Given the description of an element on the screen output the (x, y) to click on. 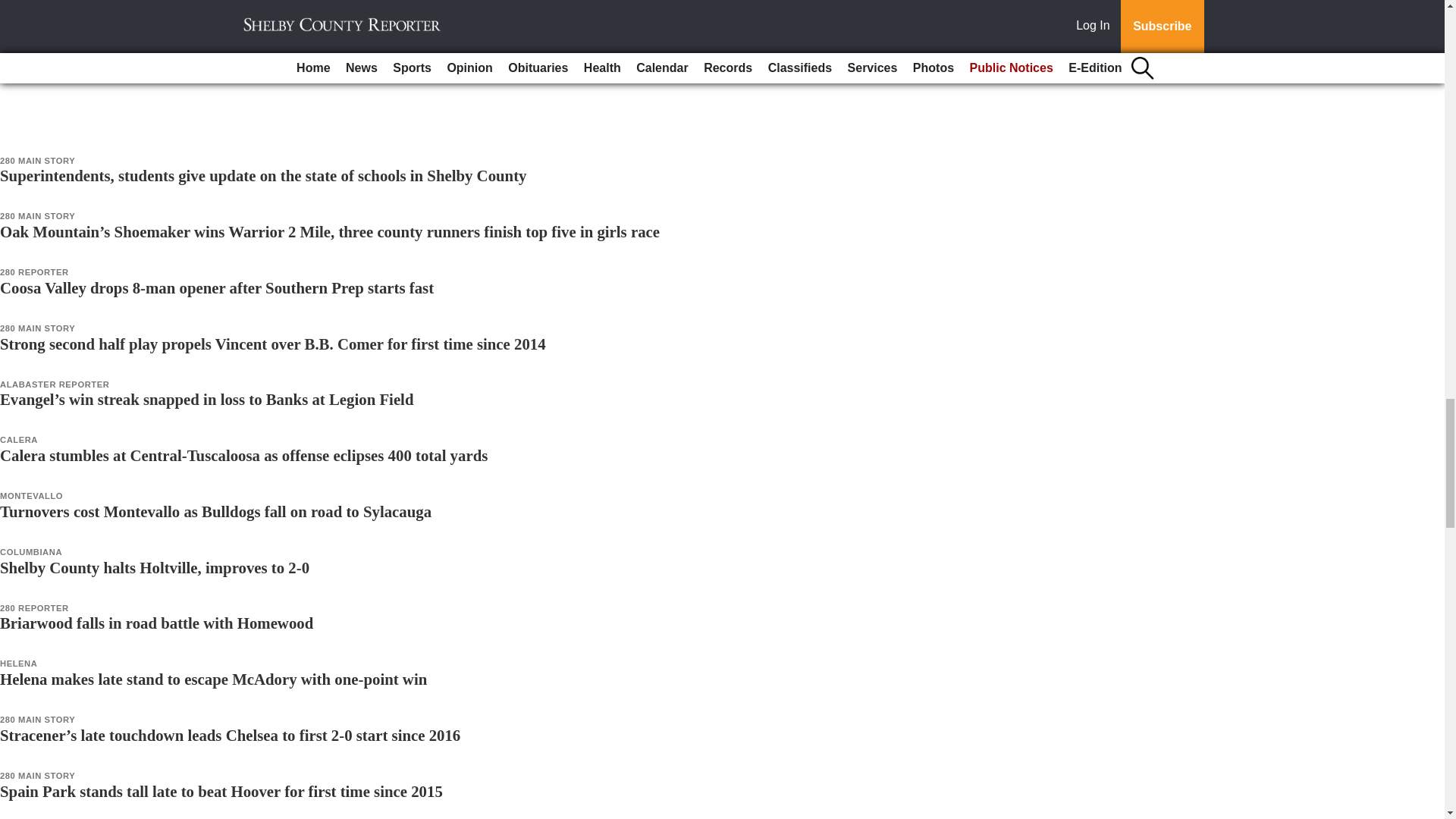
Briarwood falls in road battle with Homewood (156, 622)
Shelby County halts Holtville, improves to 2-0 (154, 567)
Helena makes late stand to escape McAdory with one-point win (213, 678)
